Given the description of an element on the screen output the (x, y) to click on. 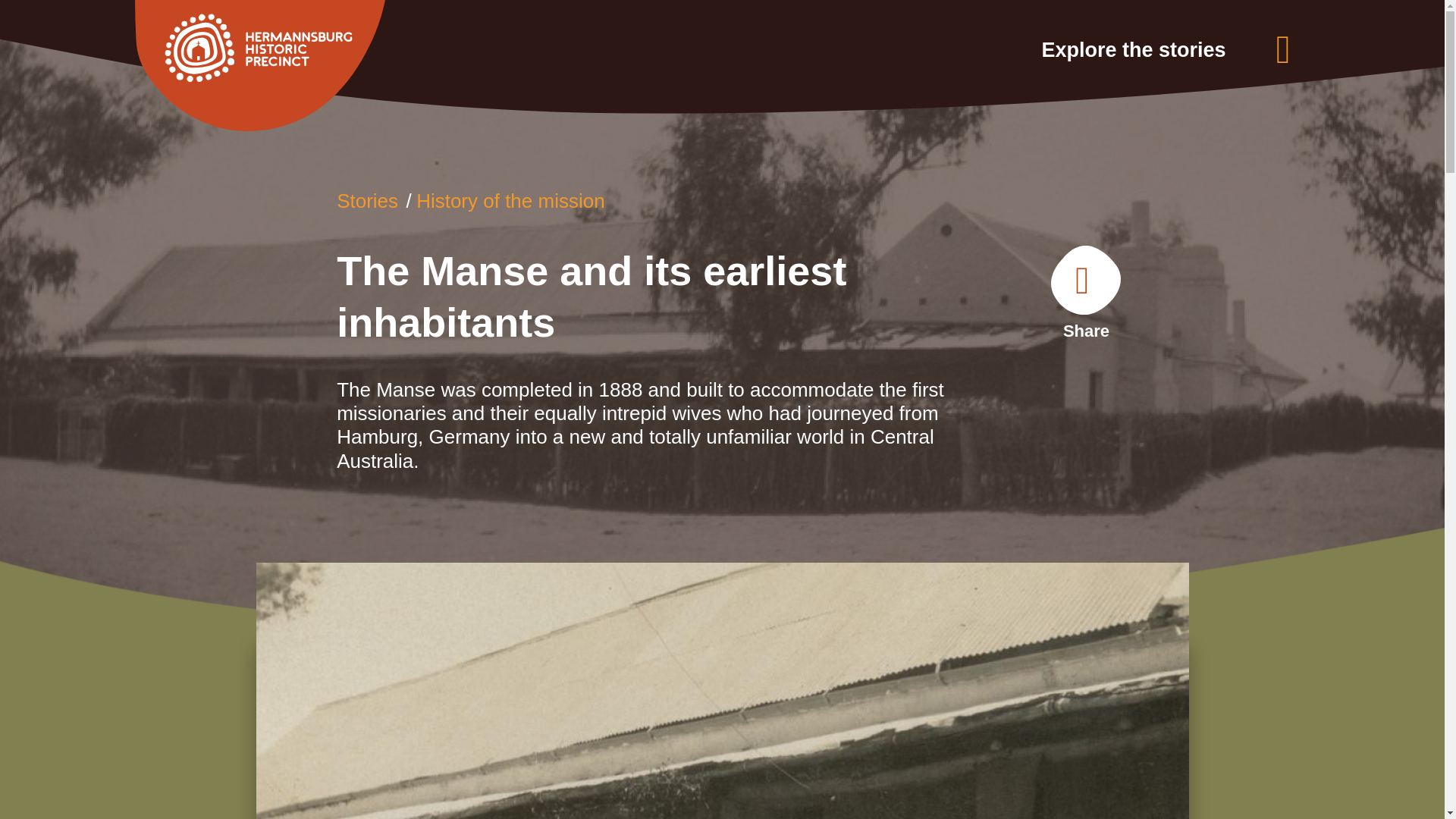
History of the mission (510, 200)
Hermannsburg Historic Precinct Home (317, 65)
Hermannsburg Historic Precinct Home (260, 65)
Stories (366, 200)
